Given the description of an element on the screen output the (x, y) to click on. 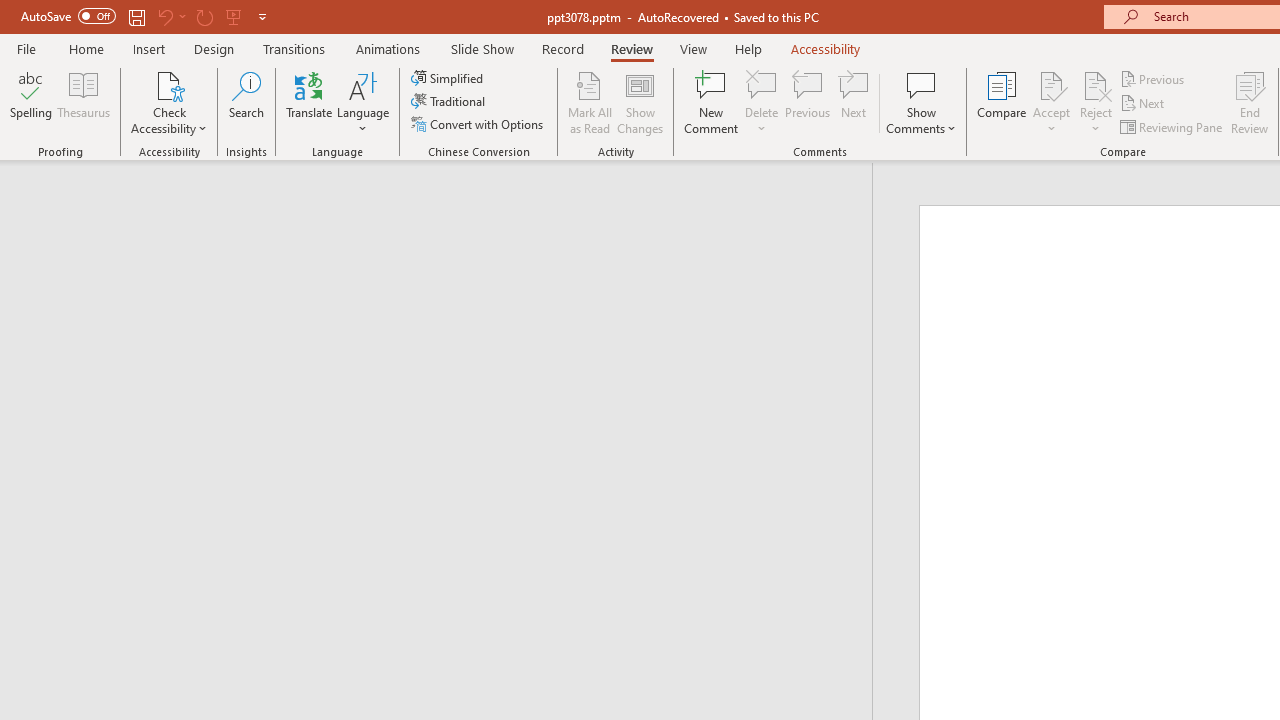
Accept (1051, 102)
Next (1144, 103)
Mark All as Read (589, 102)
Reject (1096, 102)
Simplified (449, 78)
Traditional (449, 101)
